Given the description of an element on the screen output the (x, y) to click on. 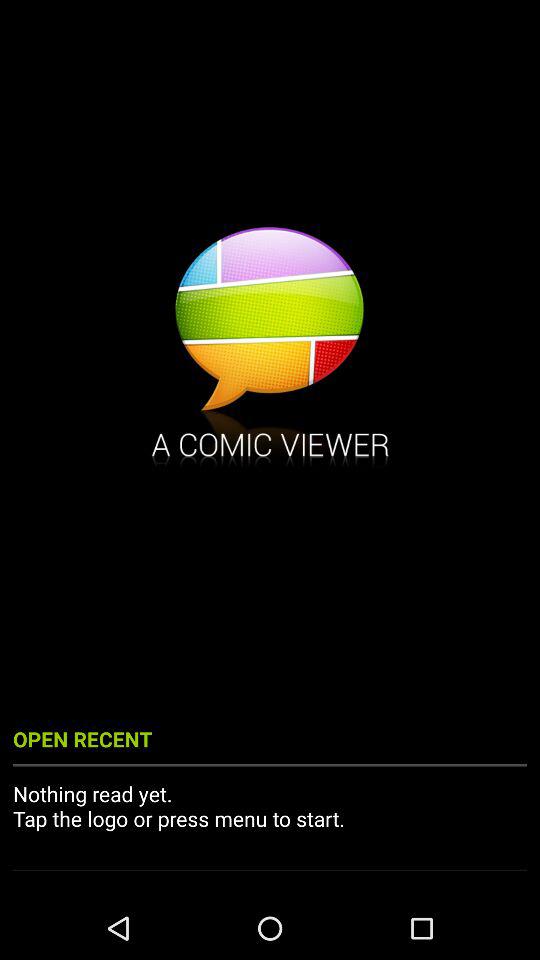
turn on icon at the center (269, 349)
